Given the description of an element on the screen output the (x, y) to click on. 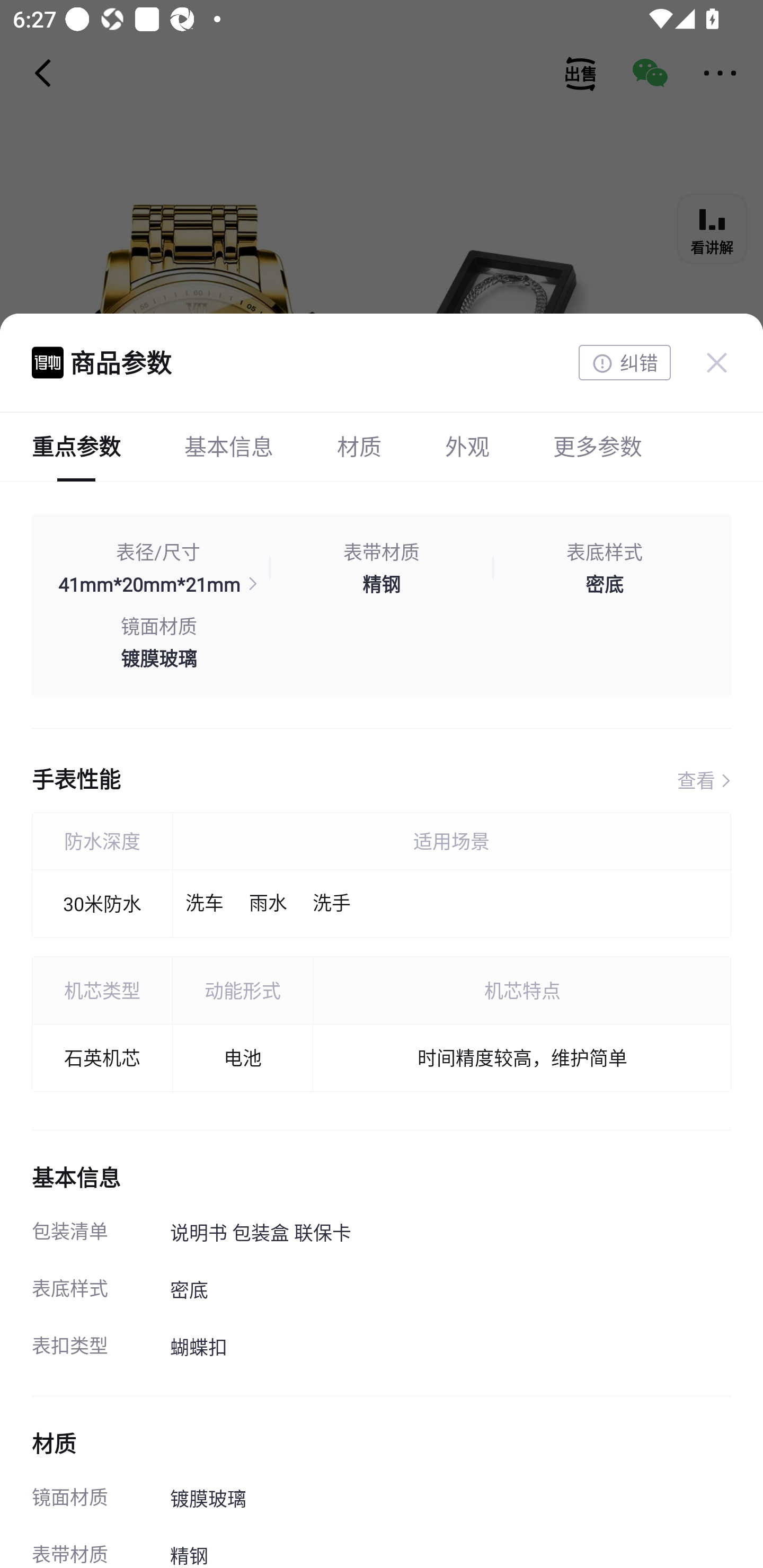
 (716, 362)
纠错 (624, 362)
重点参数 (76, 445)
基本信息 (228, 445)
材质 (359, 445)
外观 (467, 445)
更多参数 (597, 445)
表径/尺寸 41mm*20mm*21mm (158, 568)
表带材质 精钢 (381, 568)
表底样式 密底 (604, 568)
41mm*20mm*21mm (157, 583)
精钢 (381, 583)
密底 (604, 583)
镜面材质 镀膜玻璃 (158, 642)
镀膜玻璃 (158, 657)
洗车 (204, 903)
雨水 (267, 903)
洗手 (331, 903)
说明书 包装盒 联保卡 (450, 1233)
密底 (450, 1291)
蝴蝶扣 (450, 1348)
镀膜玻璃 (450, 1499)
精钢 (450, 1548)
